Given the description of an element on the screen output the (x, y) to click on. 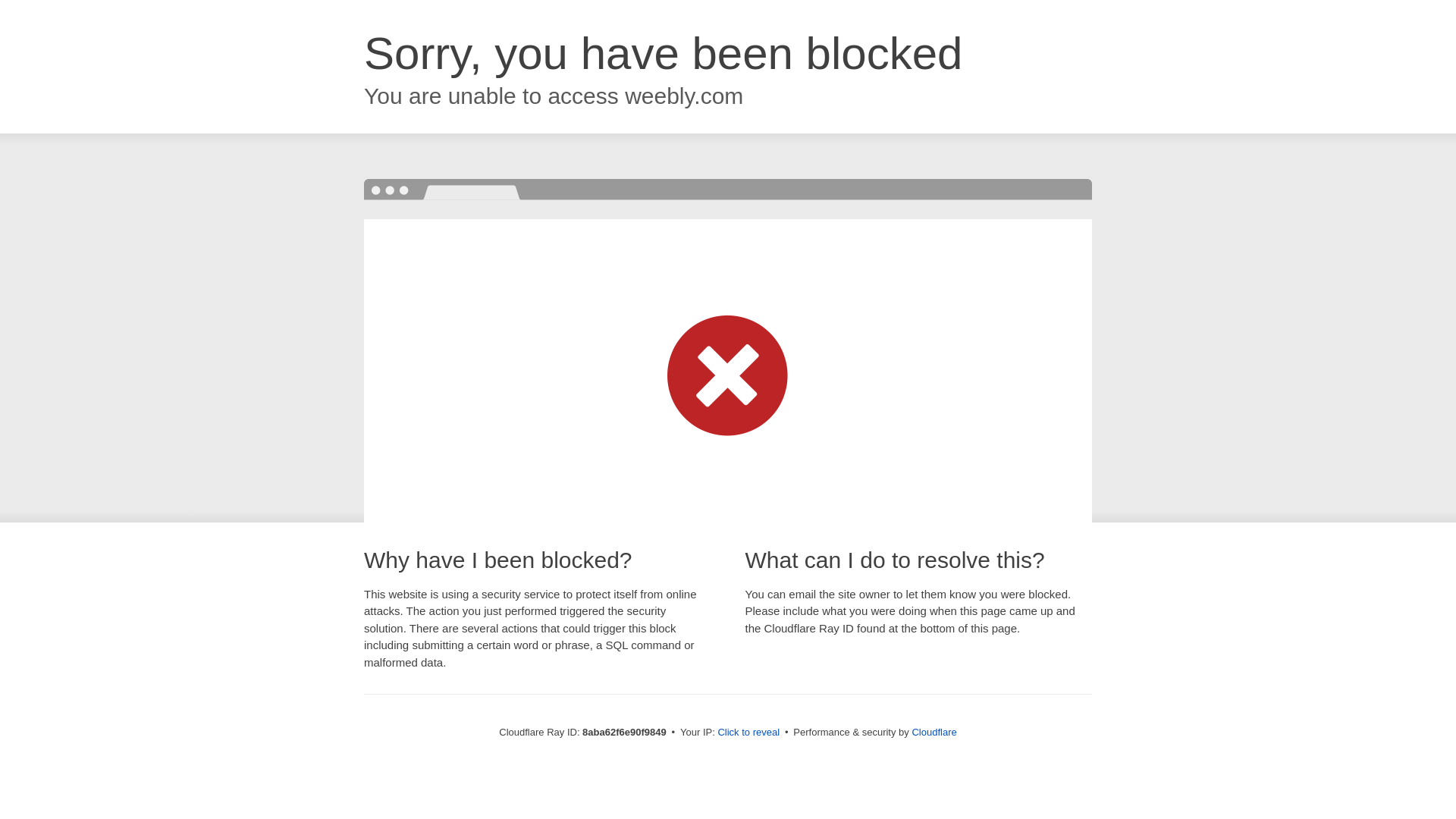
Cloudflare (933, 731)
Click to reveal (747, 732)
